Given the description of an element on the screen output the (x, y) to click on. 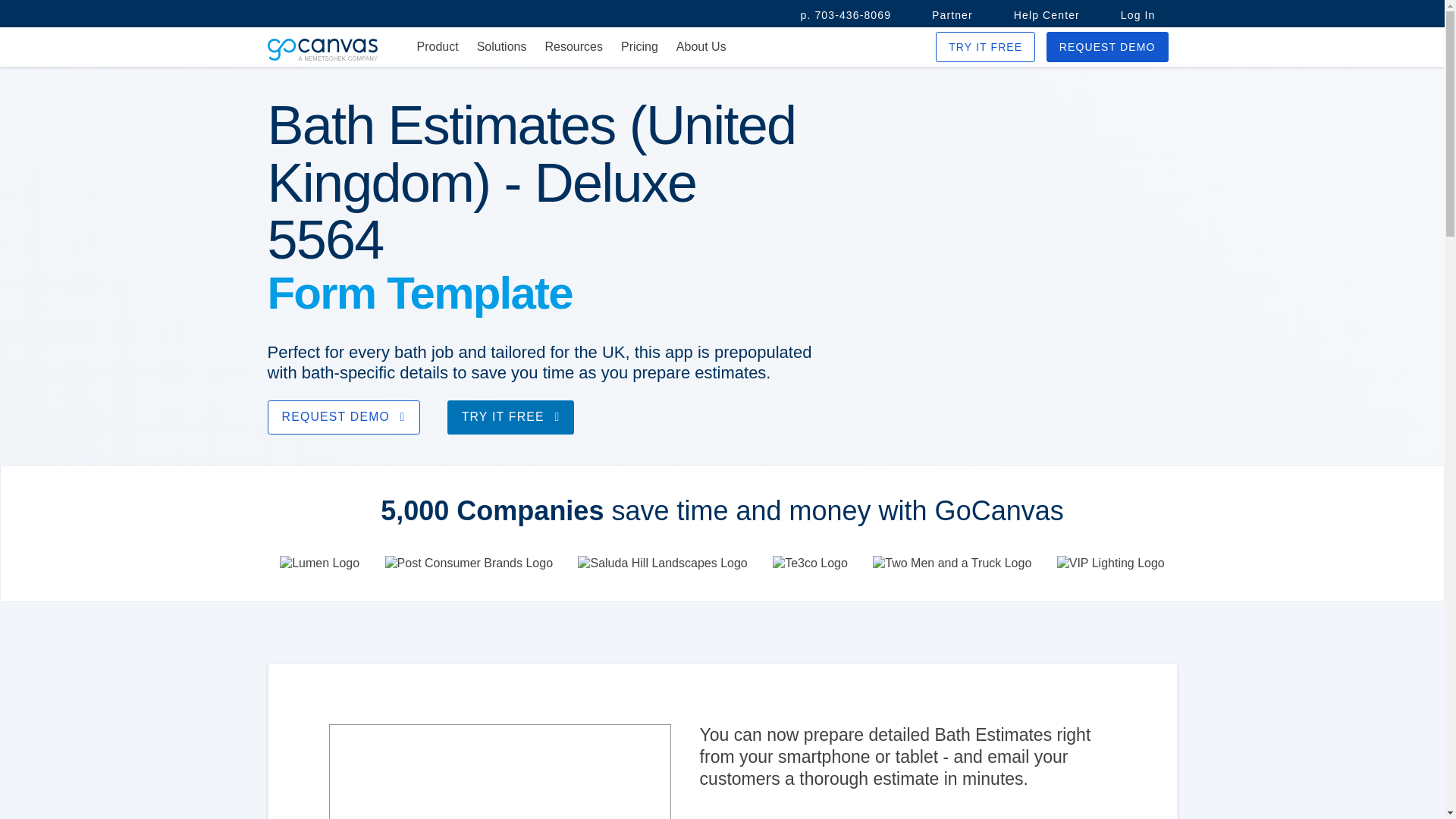
Partner (951, 15)
Log In (1138, 15)
REQUEST DEMO (1107, 46)
TRY IT FREE (985, 46)
Help Center (1047, 15)
p. 703-436-8069 (845, 15)
TRY IT FREE (510, 417)
REQUEST DEMO (342, 417)
Pricing (639, 46)
About Us (701, 46)
